Given the description of an element on the screen output the (x, y) to click on. 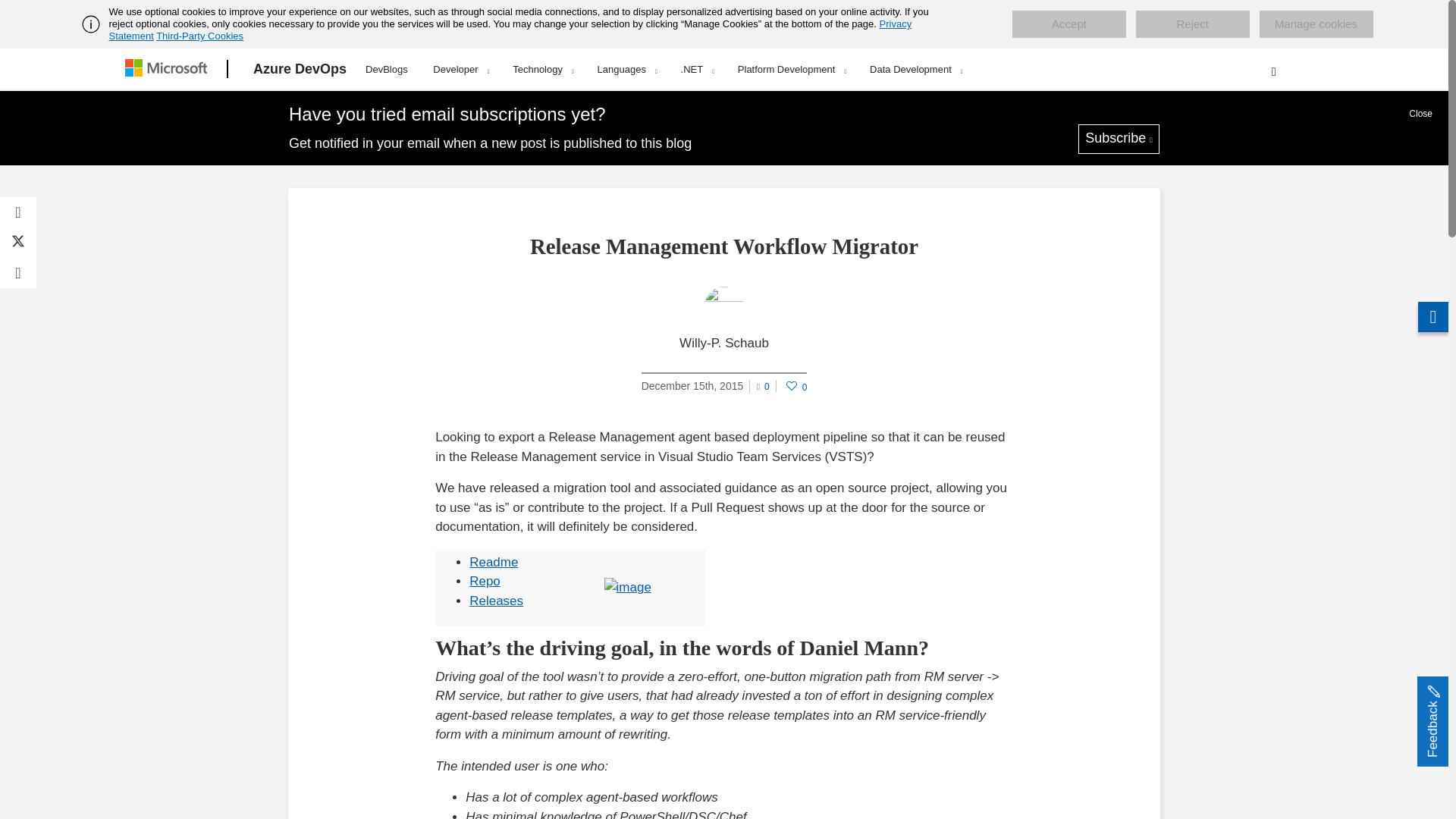
Accept (1068, 23)
DevBlogs (386, 67)
Third-Party Cookies (199, 35)
Developer (460, 69)
Languages (627, 69)
Share on Facebook (18, 212)
Privacy Statement (510, 29)
Share on LinkedIn (18, 272)
Reject (1192, 23)
Share on Twitter (18, 242)
image (627, 587)
Manage cookies (1316, 23)
Technology (542, 69)
Azure DevOps (299, 69)
